Given the description of an element on the screen output the (x, y) to click on. 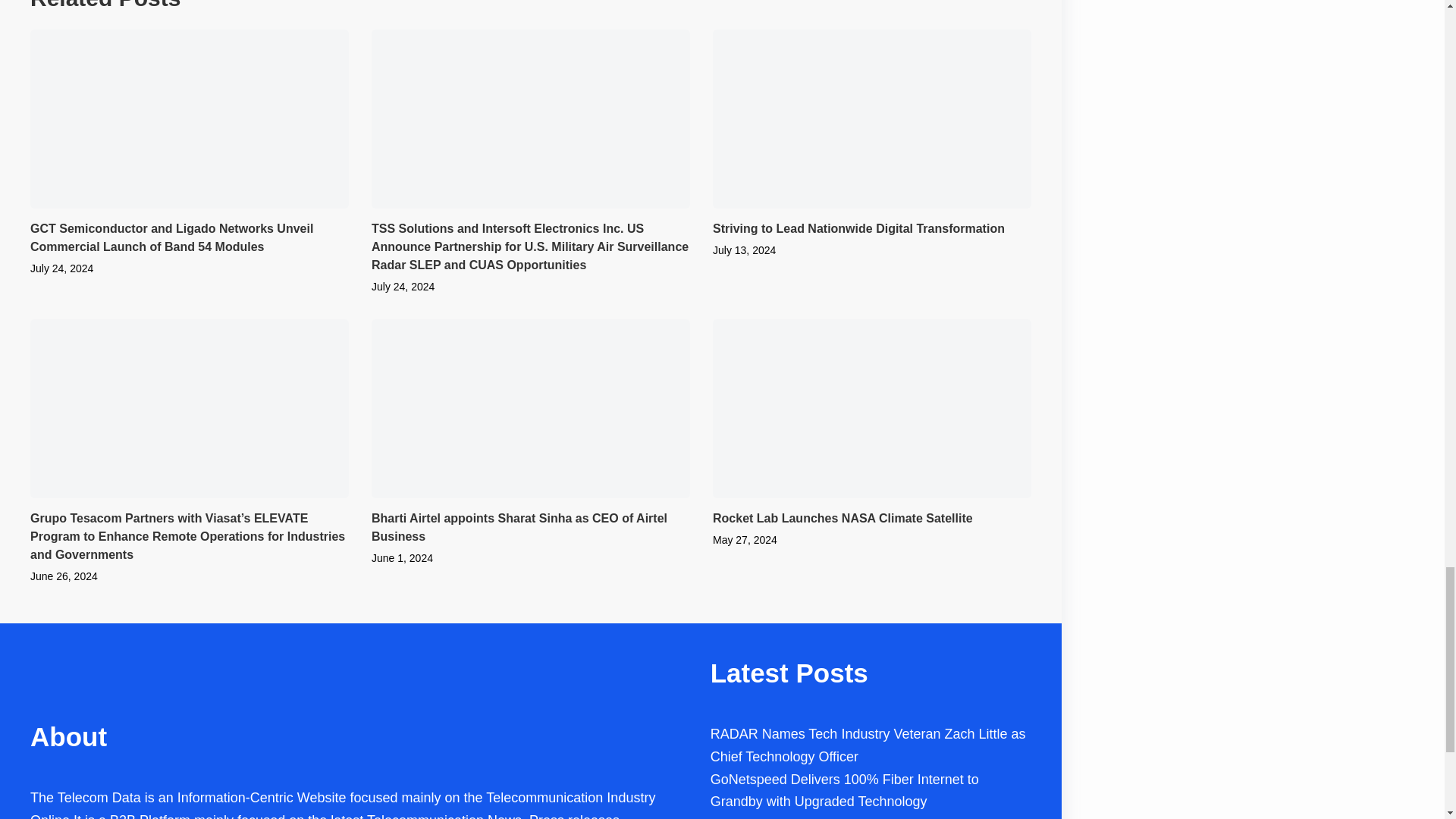
Striving to Lead Nationwide Digital Transformation (858, 228)
